Given the description of an element on the screen output the (x, y) to click on. 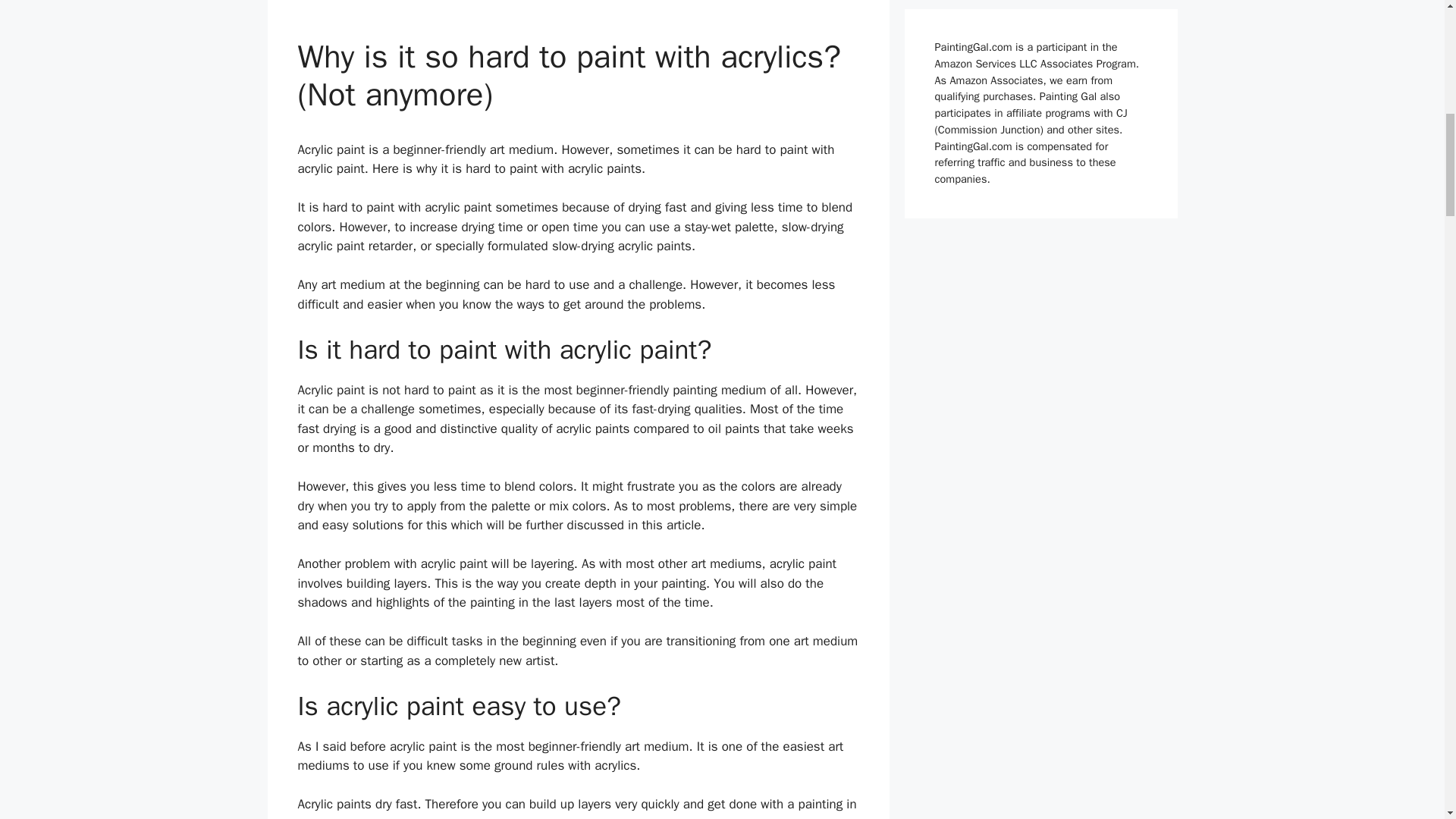
Scroll back to top (1406, 720)
